Given the description of an element on the screen output the (x, y) to click on. 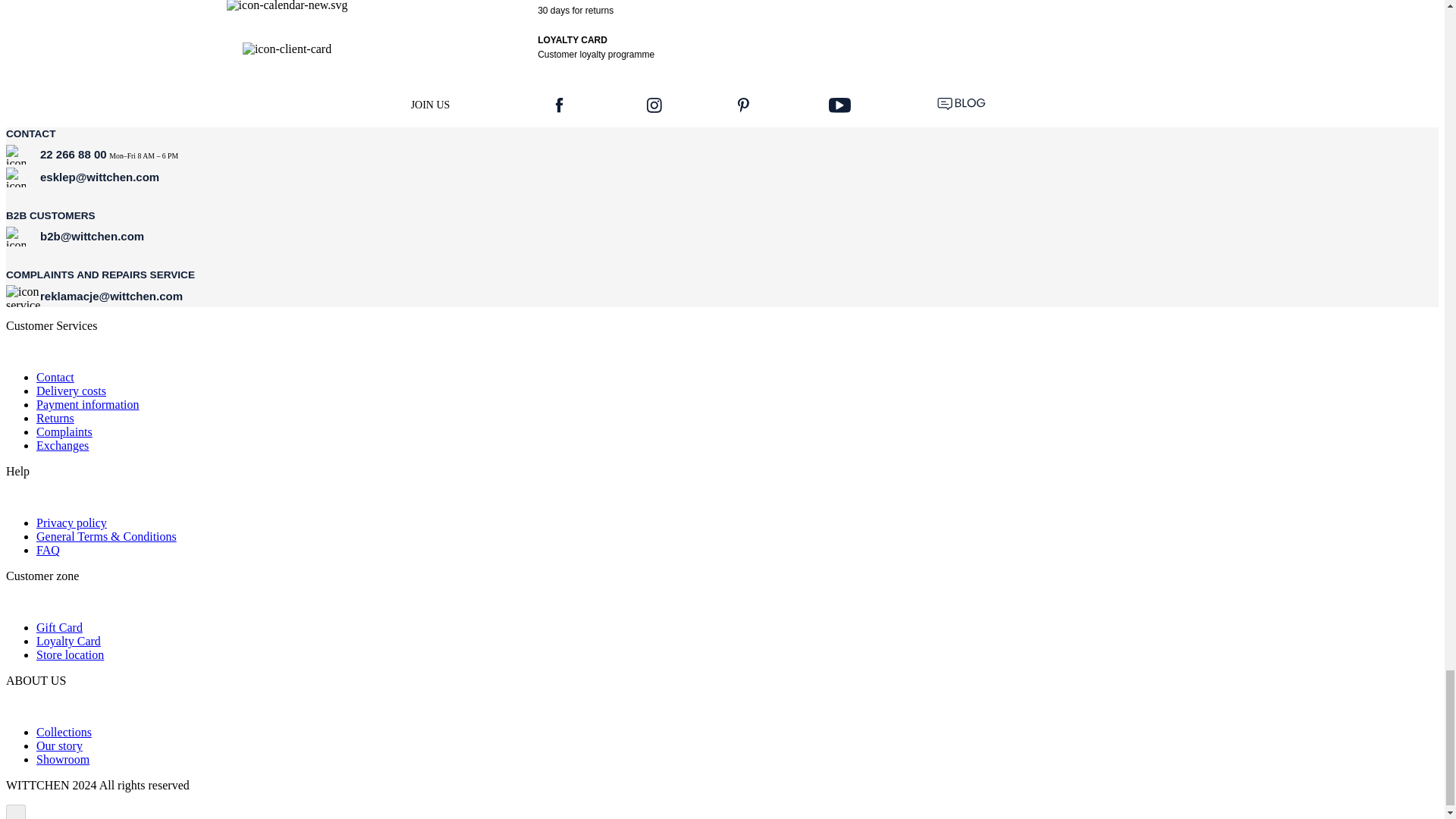
Our Pinterest profile (745, 105)
Our YouTube profile (839, 105)
Our blog (961, 105)
Our Facebook profile (563, 105)
Our Instagram profile (654, 105)
